Given the description of an element on the screen output the (x, y) to click on. 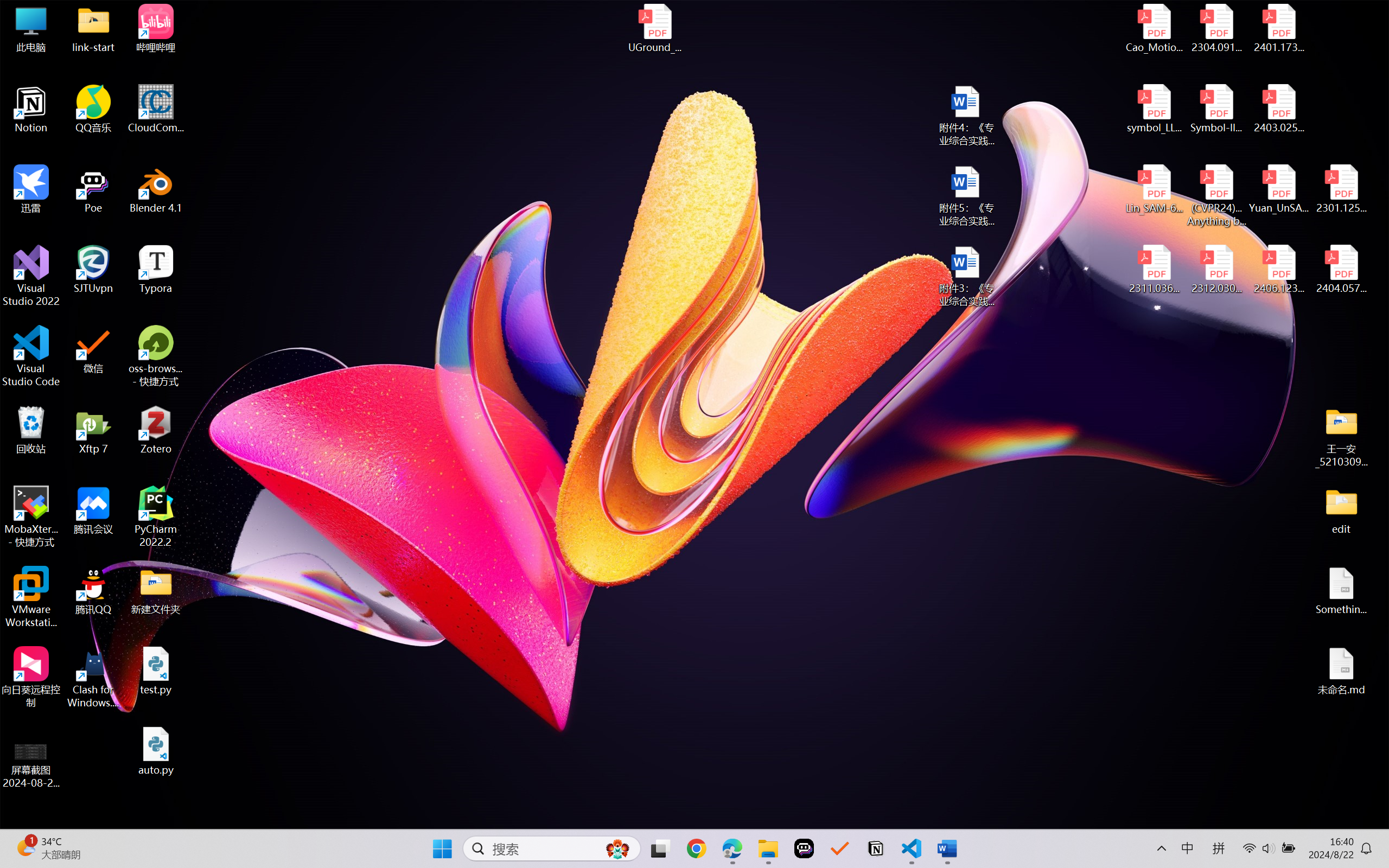
Notion (31, 109)
2406.12373v2.pdf (1278, 269)
PyCharm 2022.2 (156, 516)
2403.02502v1.pdf (1278, 109)
Typora (156, 269)
CloudCompare (156, 109)
Visual Studio 2022 (31, 276)
